Given the description of an element on the screen output the (x, y) to click on. 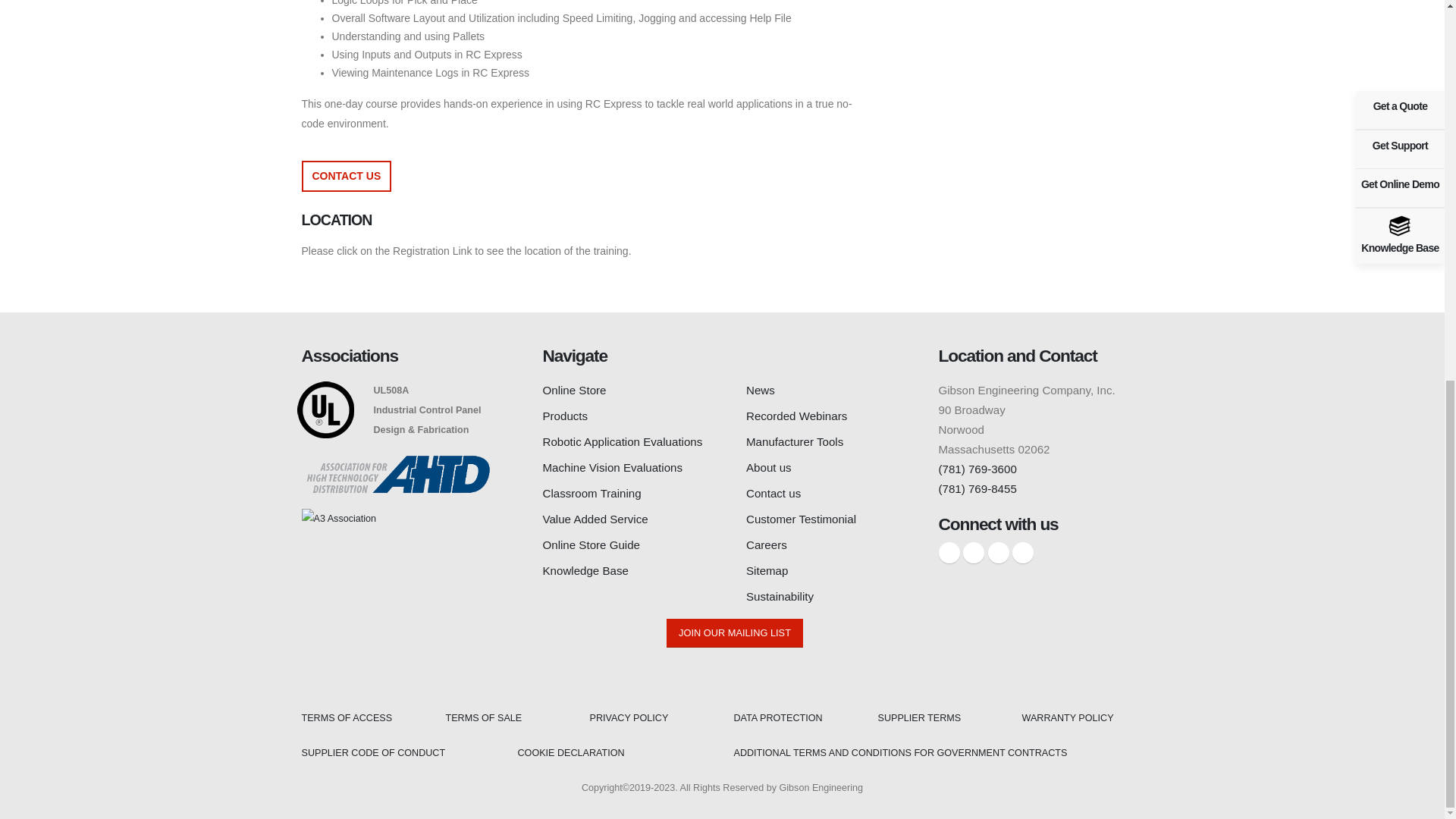
Linkedin (998, 552)
Twitter (973, 552)
Youtube (1022, 552)
Facebook (949, 552)
